Given the description of an element on the screen output the (x, y) to click on. 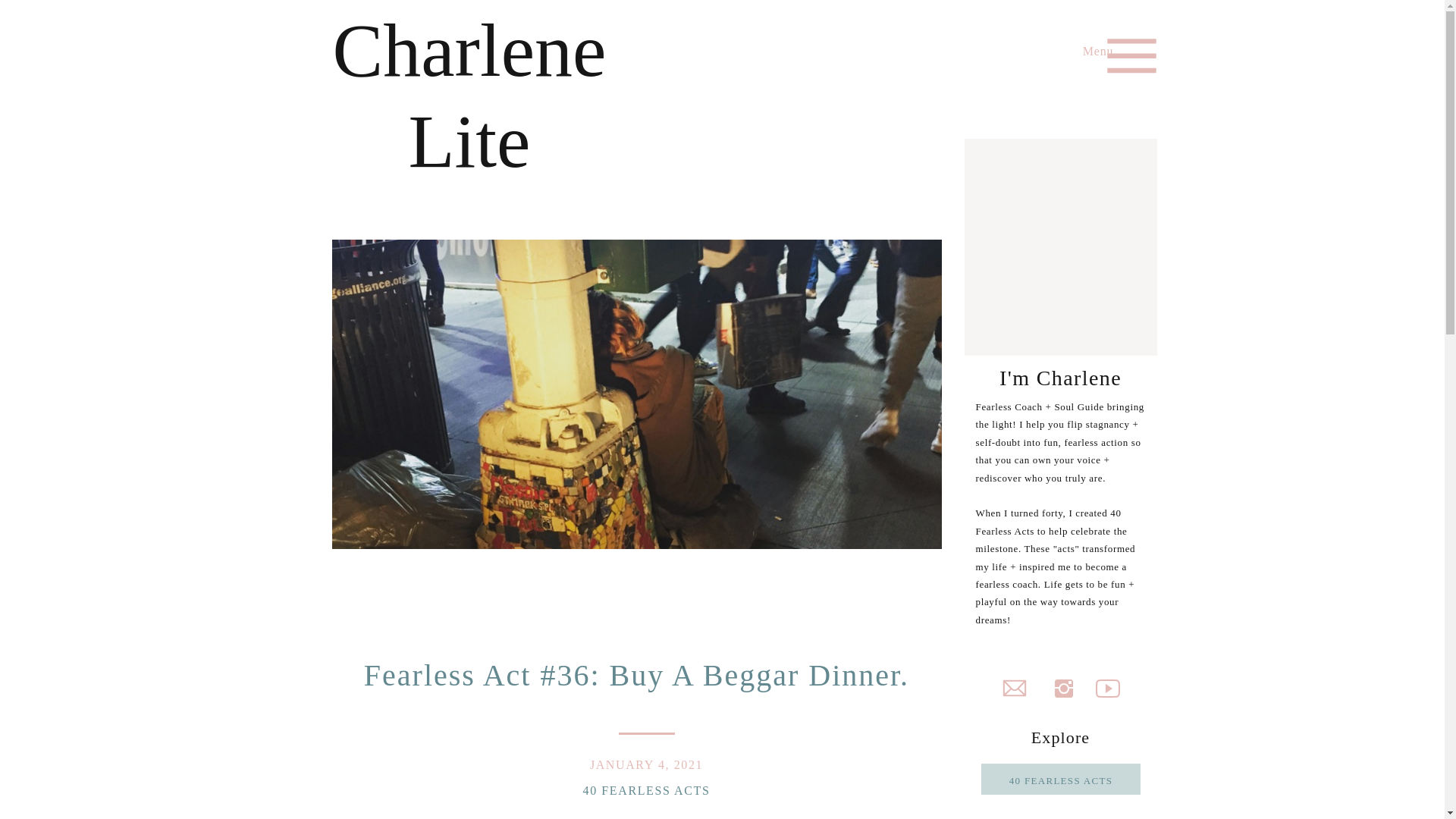
40 FEARLESS ACTS (1061, 783)
40 FEARLESS ACTS (646, 789)
Charlene Lite (468, 49)
